Given the description of an element on the screen output the (x, y) to click on. 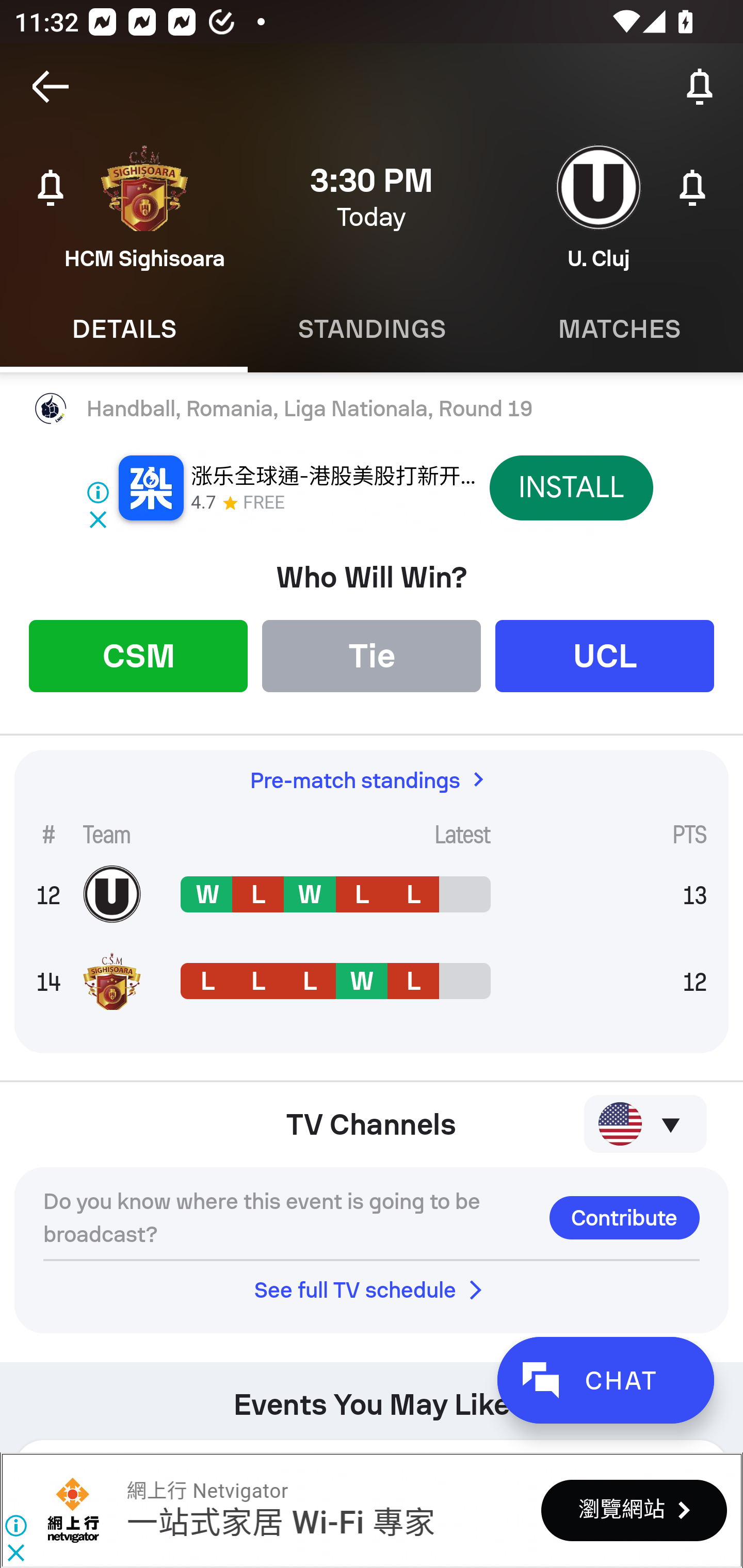
Navigate up (50, 86)
Standings STANDINGS (371, 329)
Matches MATCHES (619, 329)
Handball, Romania, Liga Nationala, Round 19 (371, 409)
INSTALL (570, 487)
涨乐全球通-港股美股打新开… (333, 476)
CSM (137, 655)
Tie (371, 655)
UCL (604, 655)
Contribute (624, 1217)
See full TV schedule (371, 1289)
CHAT (605, 1380)
網上行 Netvigator (73, 1510)
網上行 Netvigator (206, 1491)
瀏覽網站 (634, 1509)
一站式家居 Wi-Fi 專家 (279, 1522)
